Given the description of an element on the screen output the (x, y) to click on. 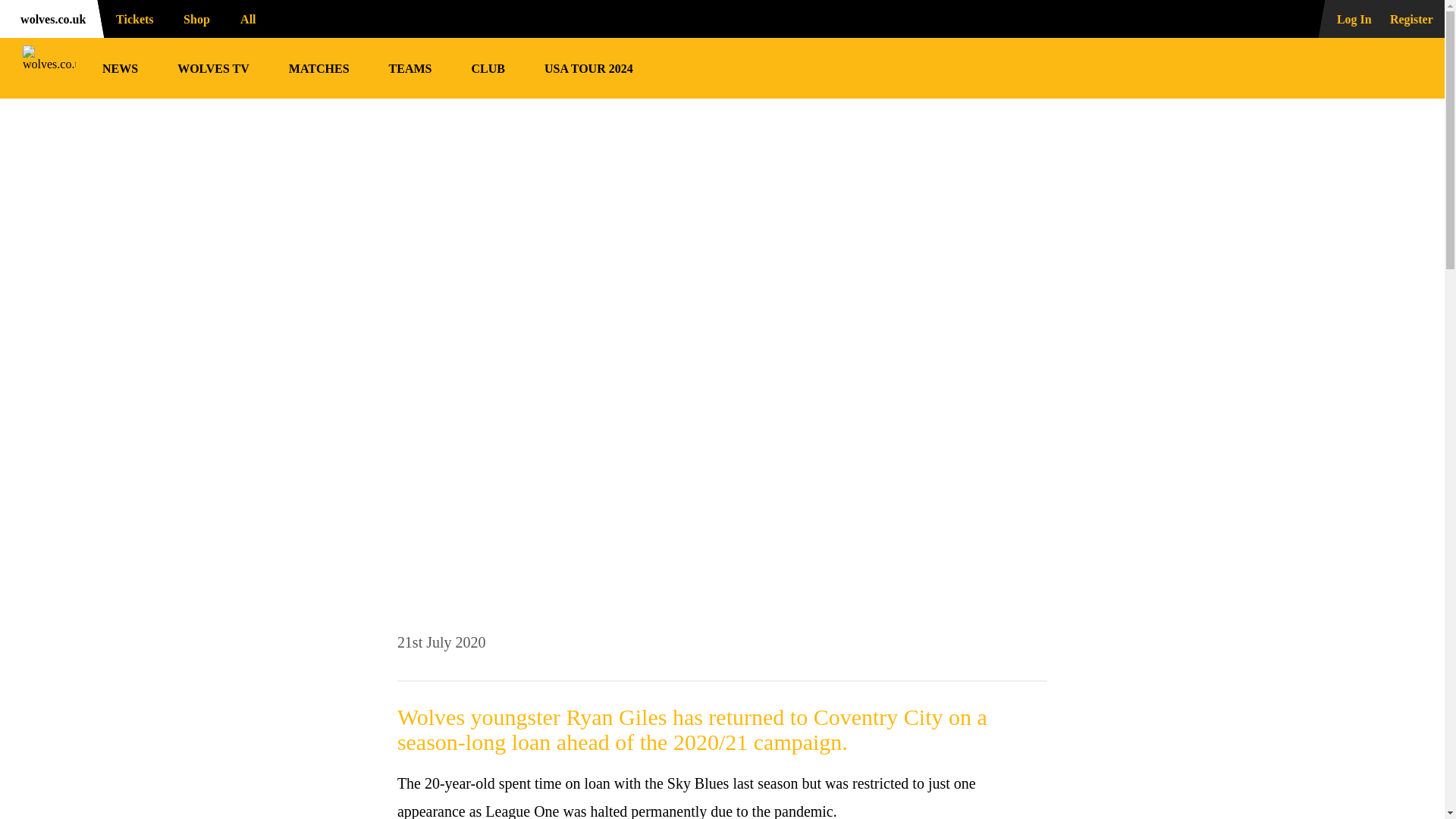
Skip to content (12, 12)
All (254, 18)
Tickets (130, 18)
Log In (1346, 18)
wolves.co.uk (48, 18)
Shop (193, 18)
